Given the description of an element on the screen output the (x, y) to click on. 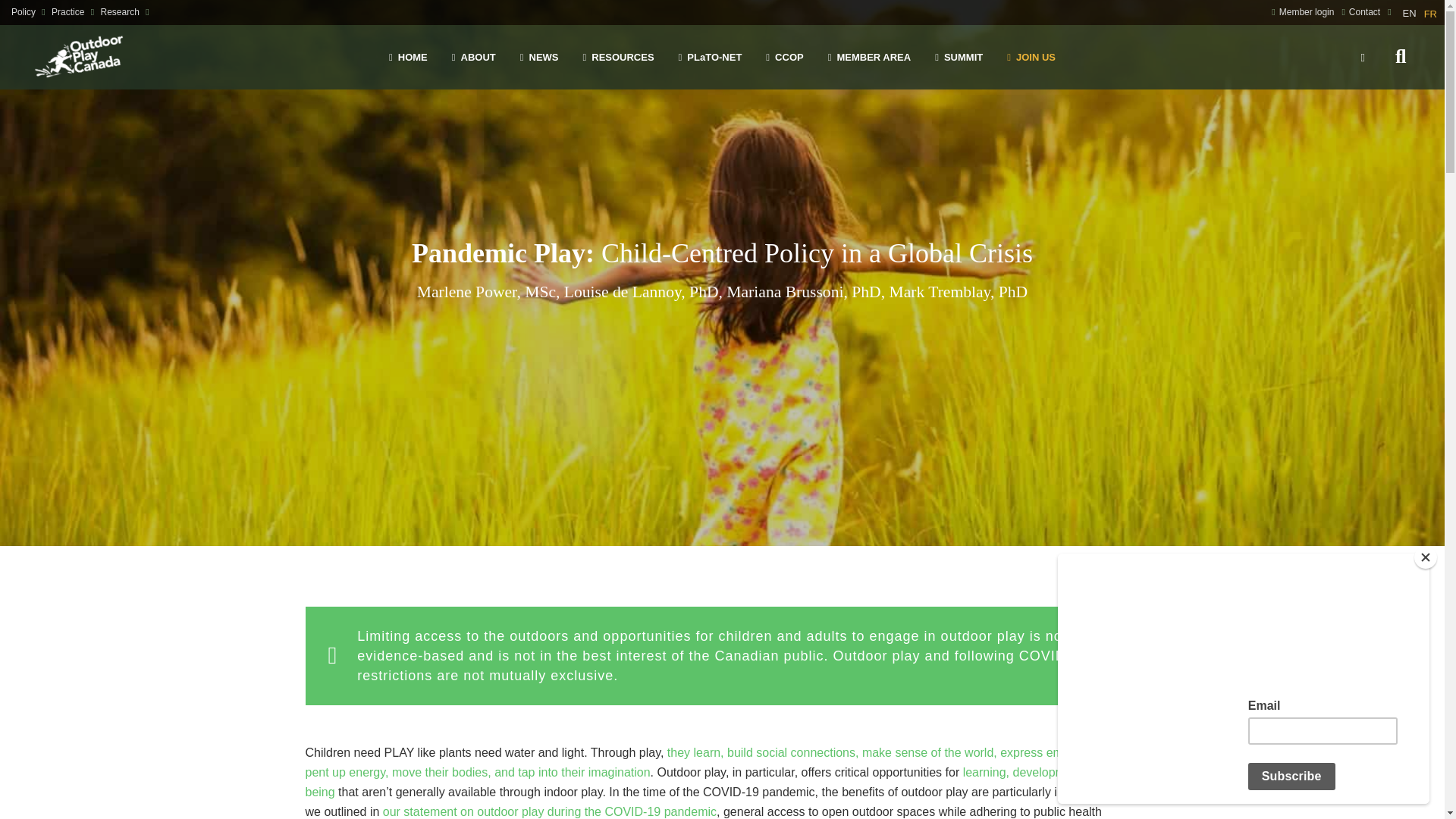
HOME (408, 57)
Contact (1364, 11)
RESOURCES (617, 57)
CCOP (784, 57)
Research (119, 11)
FR (1430, 13)
ABOUT (473, 57)
Practice (67, 11)
learning, development and well-being (719, 781)
Policy (22, 11)
PLaTO-NET (710, 57)
our statement on outdoor play during the COVID-19 pandemic (549, 811)
JOIN US (1030, 57)
Language switcher : French (1430, 13)
